Given the description of an element on the screen output the (x, y) to click on. 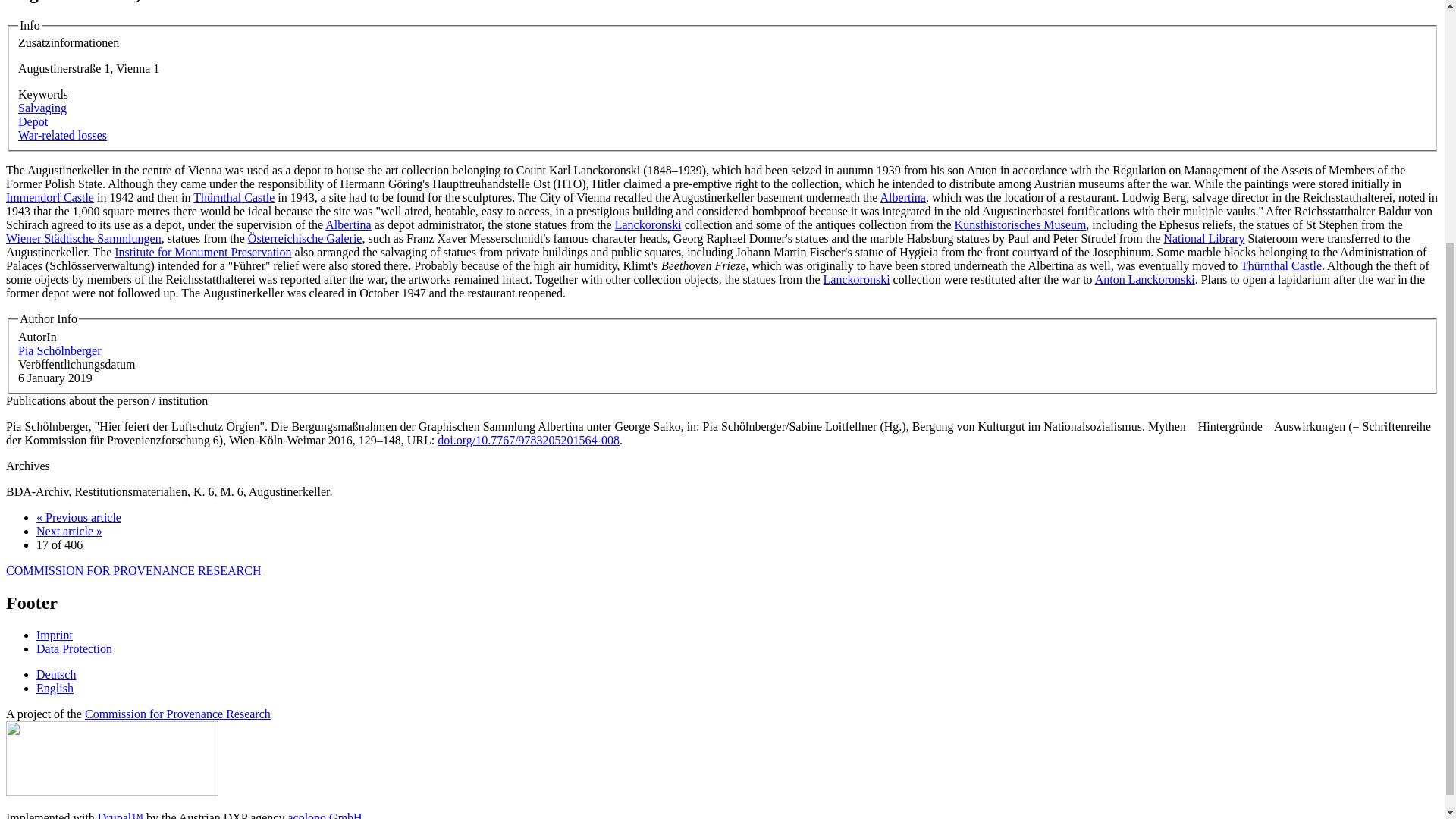
Salvaging (41, 107)
Anton Lanckoronski (1144, 278)
Lanckoronski (856, 278)
Data Protection (74, 648)
Kunsthistorisches Museum (1020, 224)
Imprint (54, 634)
Federal Monuments Authority (203, 251)
War-related losses (61, 134)
Lanckoronski (647, 224)
COMMISSION FOR PROVENANCE RESEARCH (133, 570)
